Given the description of an element on the screen output the (x, y) to click on. 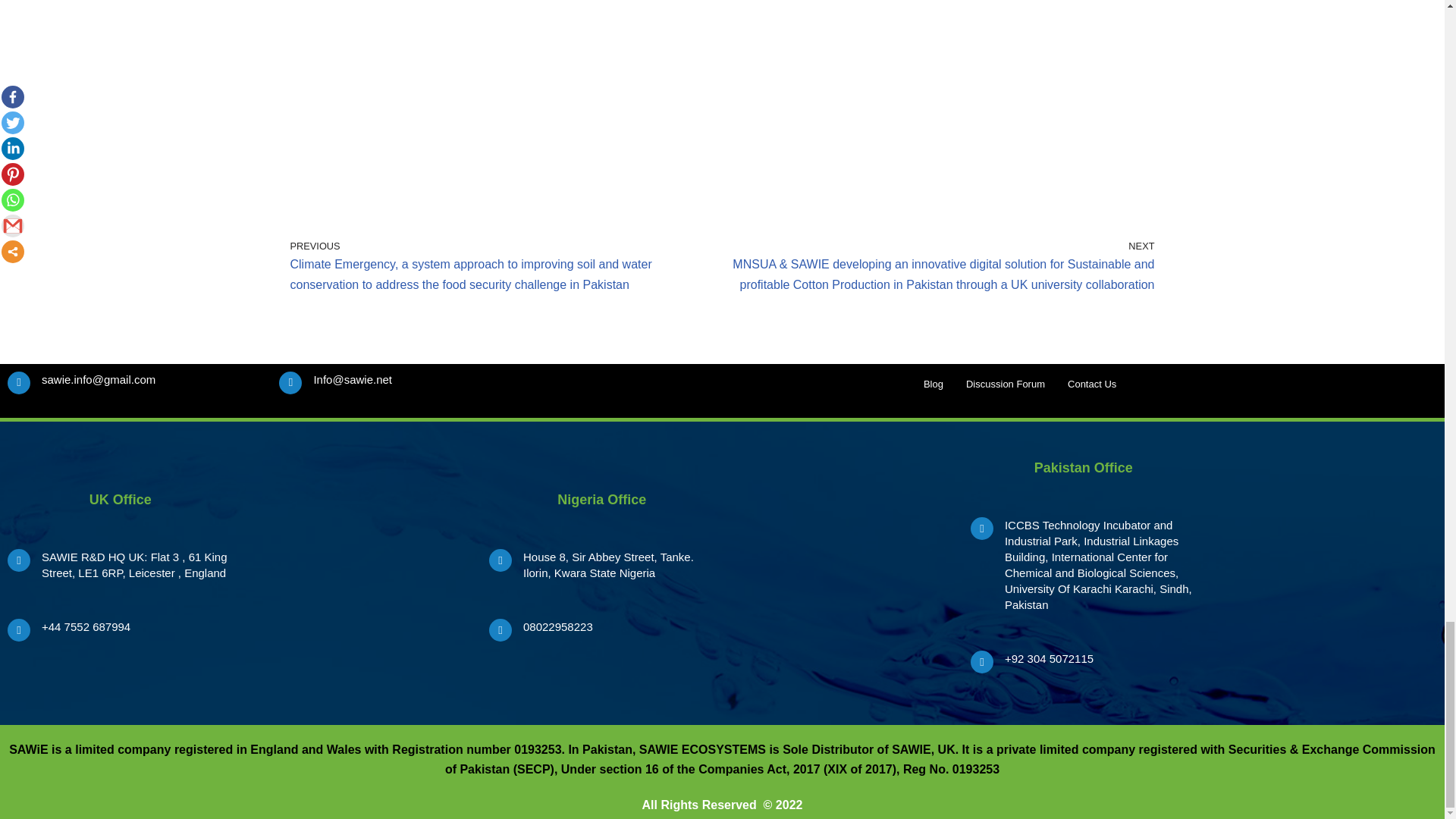
240102, Nigeria (842, 573)
University Of Karachi Karachi, Sindh, Pakistan (1323, 573)
